Given the description of an element on the screen output the (x, y) to click on. 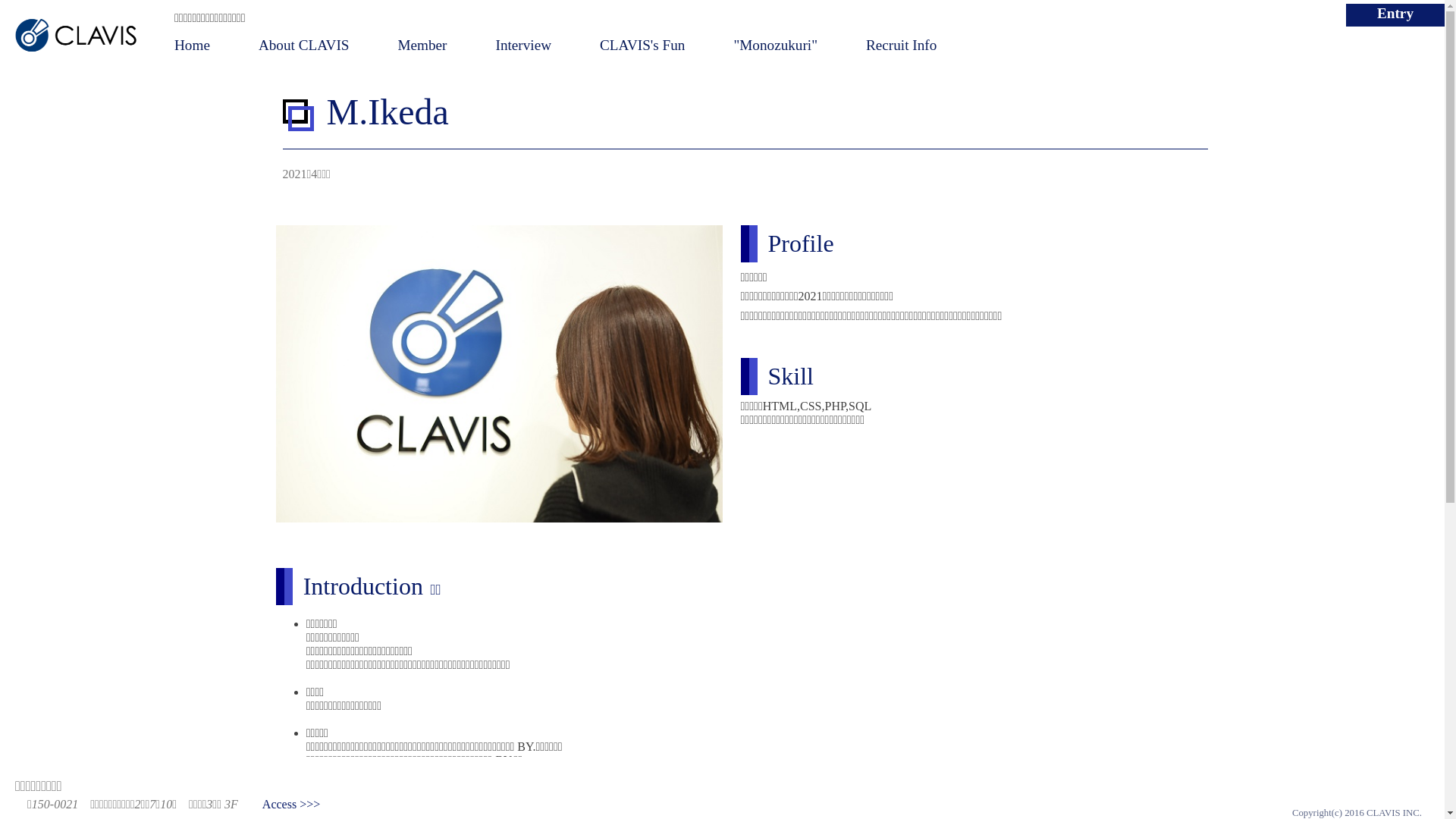
About CLAVIS Element type: text (303, 45)
Member Element type: text (421, 45)
Access >>> Element type: text (291, 803)
Recruit Info Element type: text (901, 45)
CLAVIS's Fun Element type: text (641, 45)
"Monozukuri" Element type: text (775, 45)
Interview Element type: text (523, 45)
Home Element type: text (192, 45)
